Given the description of an element on the screen output the (x, y) to click on. 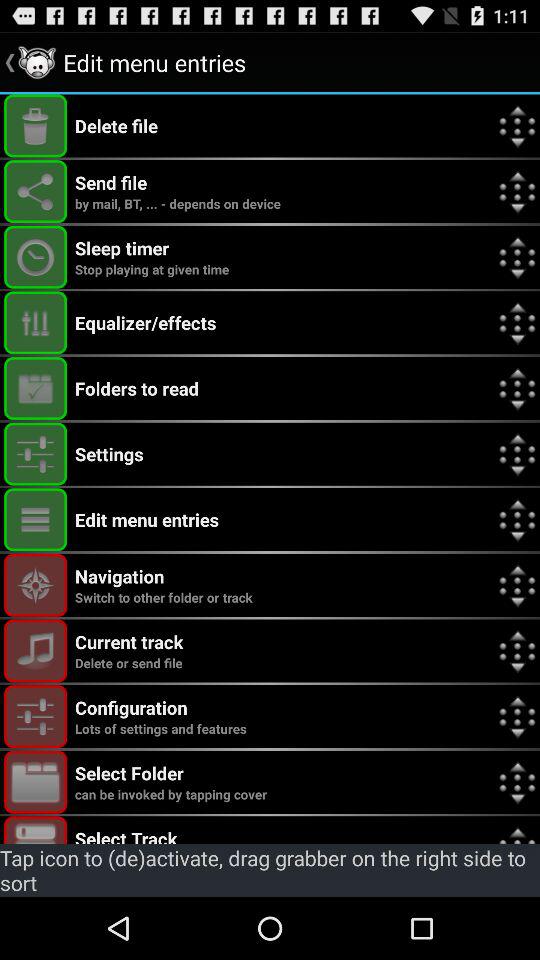
turn on/ff the sleep timer (35, 256)
